Given the description of an element on the screen output the (x, y) to click on. 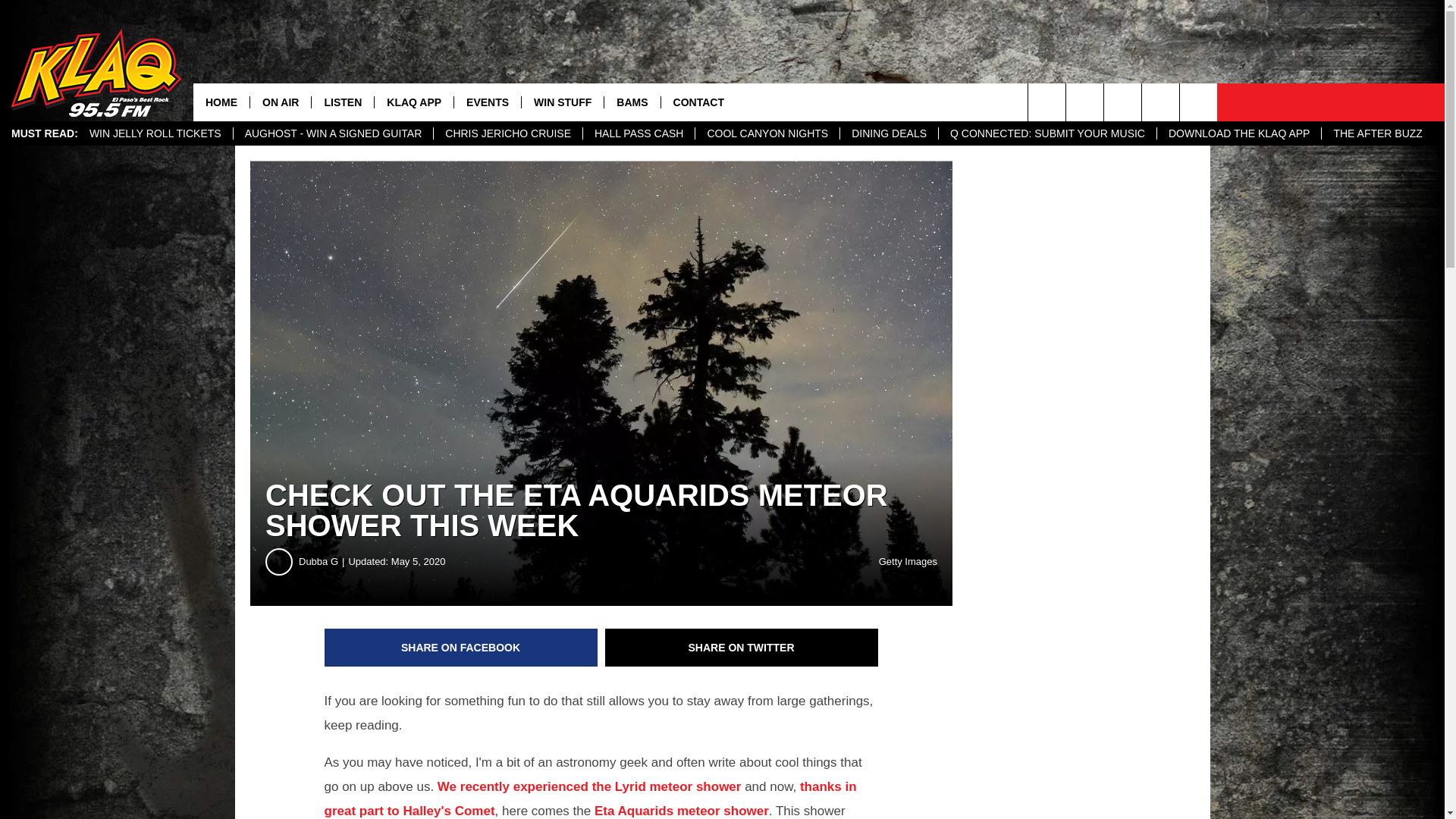
HALL PASS CASH (638, 133)
Q CONNECTED: SUBMIT YOUR MUSIC (1046, 133)
EVENTS (486, 102)
HOME (220, 102)
COOL CANYON NIGHTS (767, 133)
KLAQ APP (413, 102)
DOWNLOAD THE KLAQ APP (1238, 133)
DINING DEALS (888, 133)
AUGHOST - WIN A SIGNED GUITAR (332, 133)
WIN STUFF (562, 102)
